Given the description of an element on the screen output the (x, y) to click on. 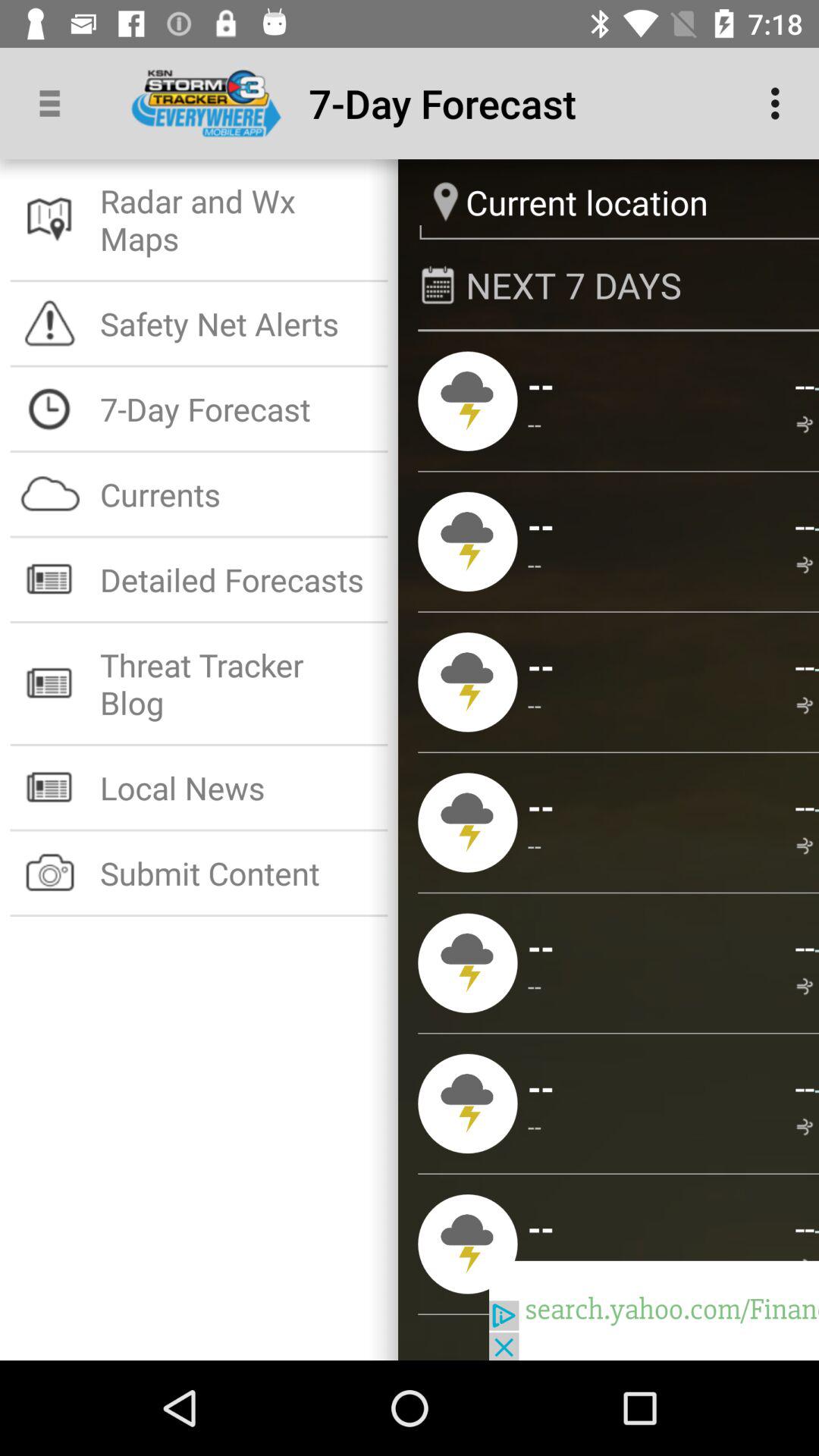
turn off app above the -- app (804, 525)
